Given the description of an element on the screen output the (x, y) to click on. 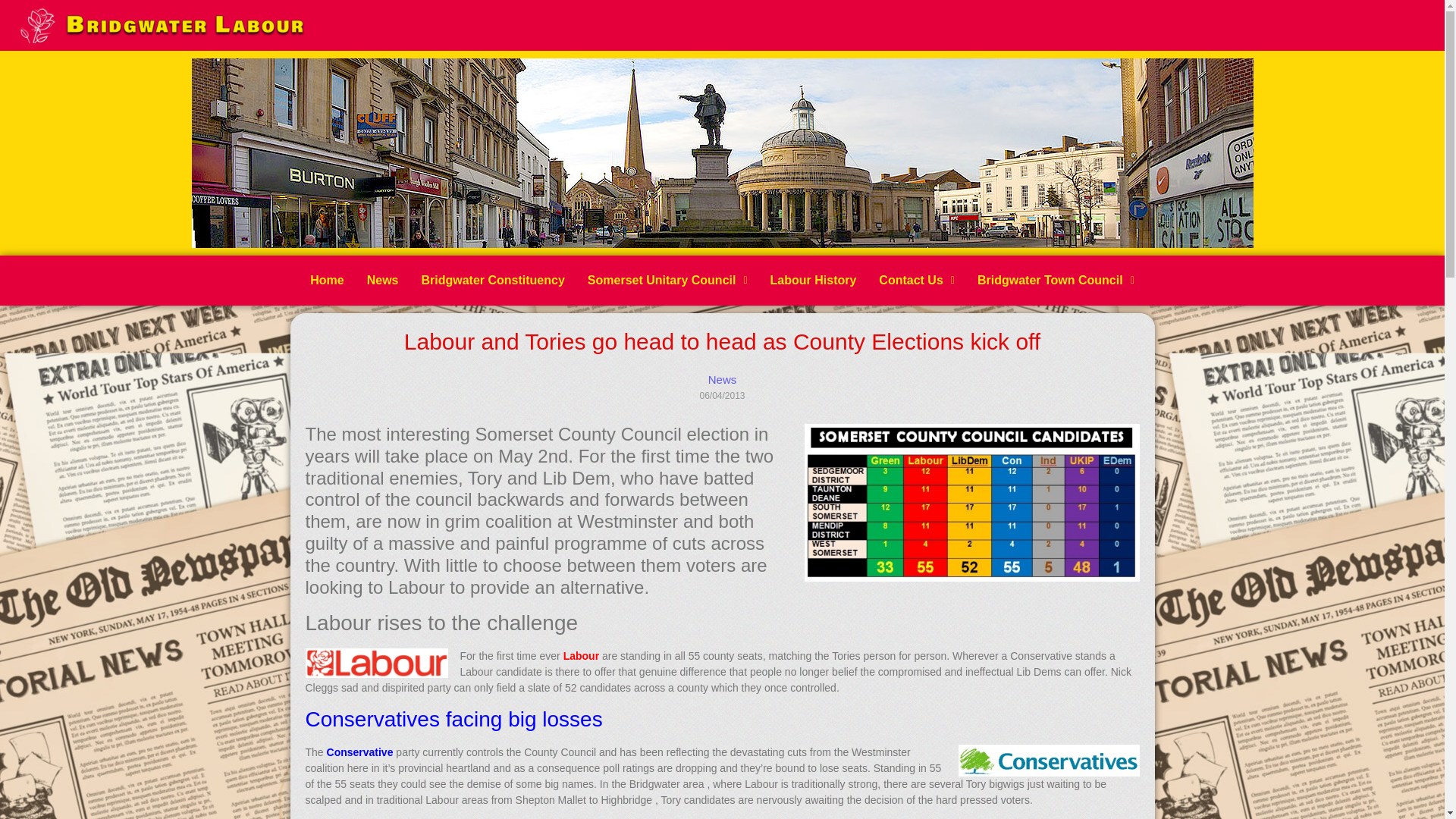
Bridgwater Constituency (492, 280)
Labour History (812, 280)
Contact Us (916, 280)
Somerset Unitary Council (667, 280)
News (382, 280)
Home (326, 280)
Bridgwater Town Council (1055, 280)
